Given the description of an element on the screen output the (x, y) to click on. 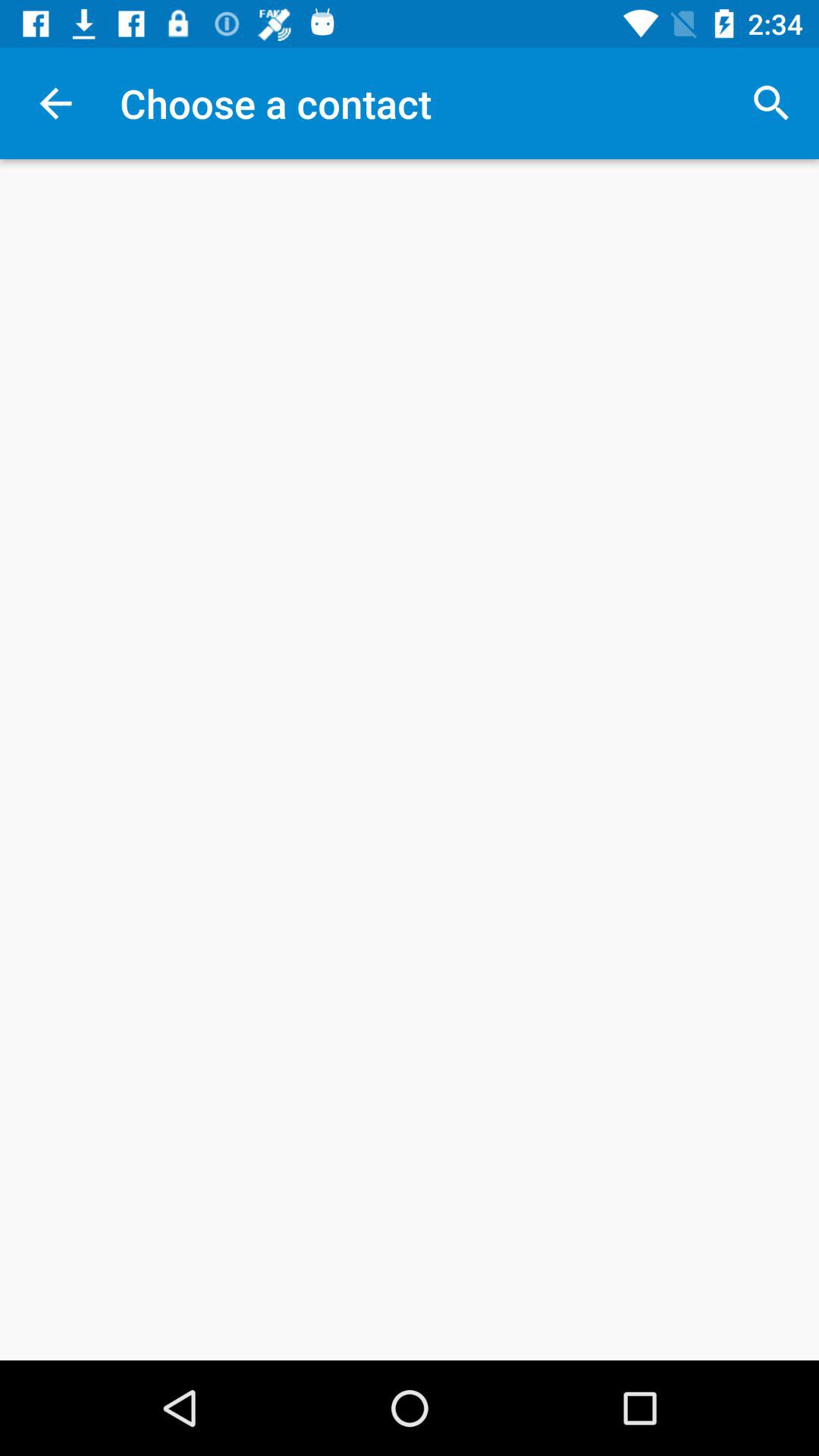
turn on icon to the right of choose a contact app (771, 103)
